Given the description of an element on the screen output the (x, y) to click on. 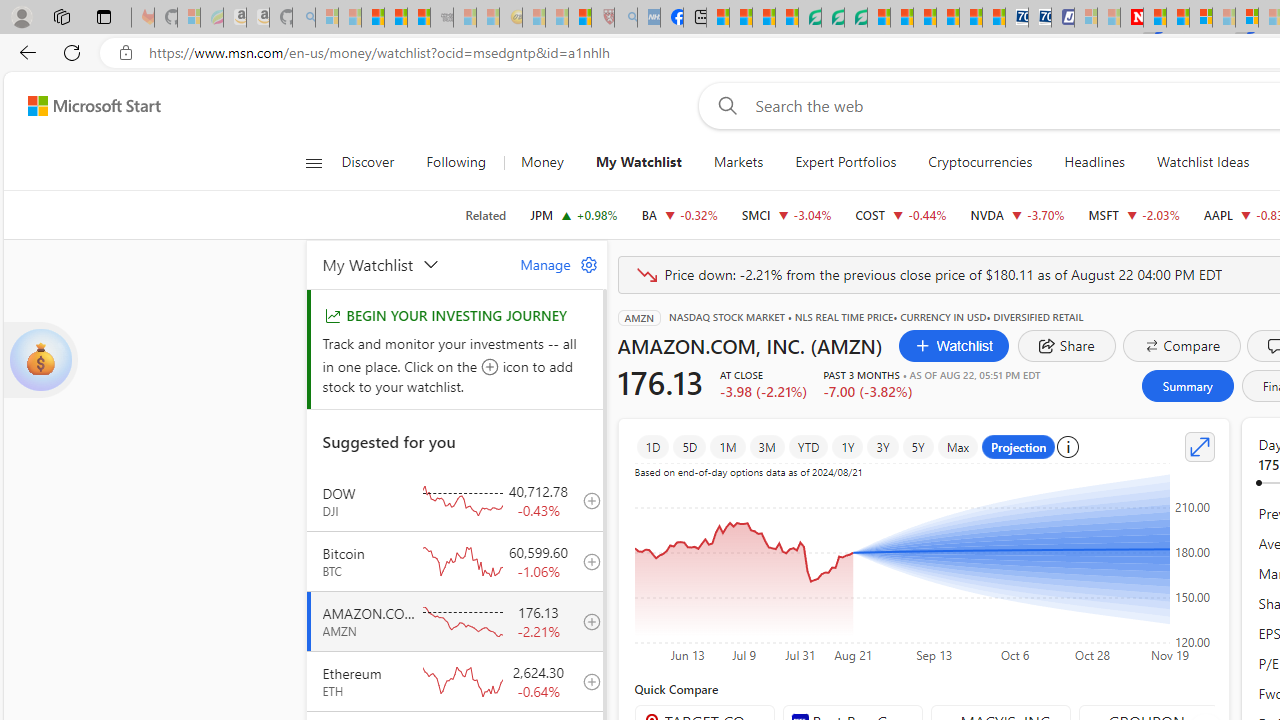
New Report Confirms 2023 Was Record Hot | Watch (419, 17)
Terms of Use Agreement (832, 17)
YTD (808, 446)
1M (728, 446)
MSFT MICROSOFT CORPORATION decrease 415.55 -8.59 -2.03% (1133, 214)
Watchlist (953, 345)
3Y (882, 446)
Class: recharts-surface (923, 567)
3M (766, 446)
5Y (918, 446)
